Given the description of an element on the screen output the (x, y) to click on. 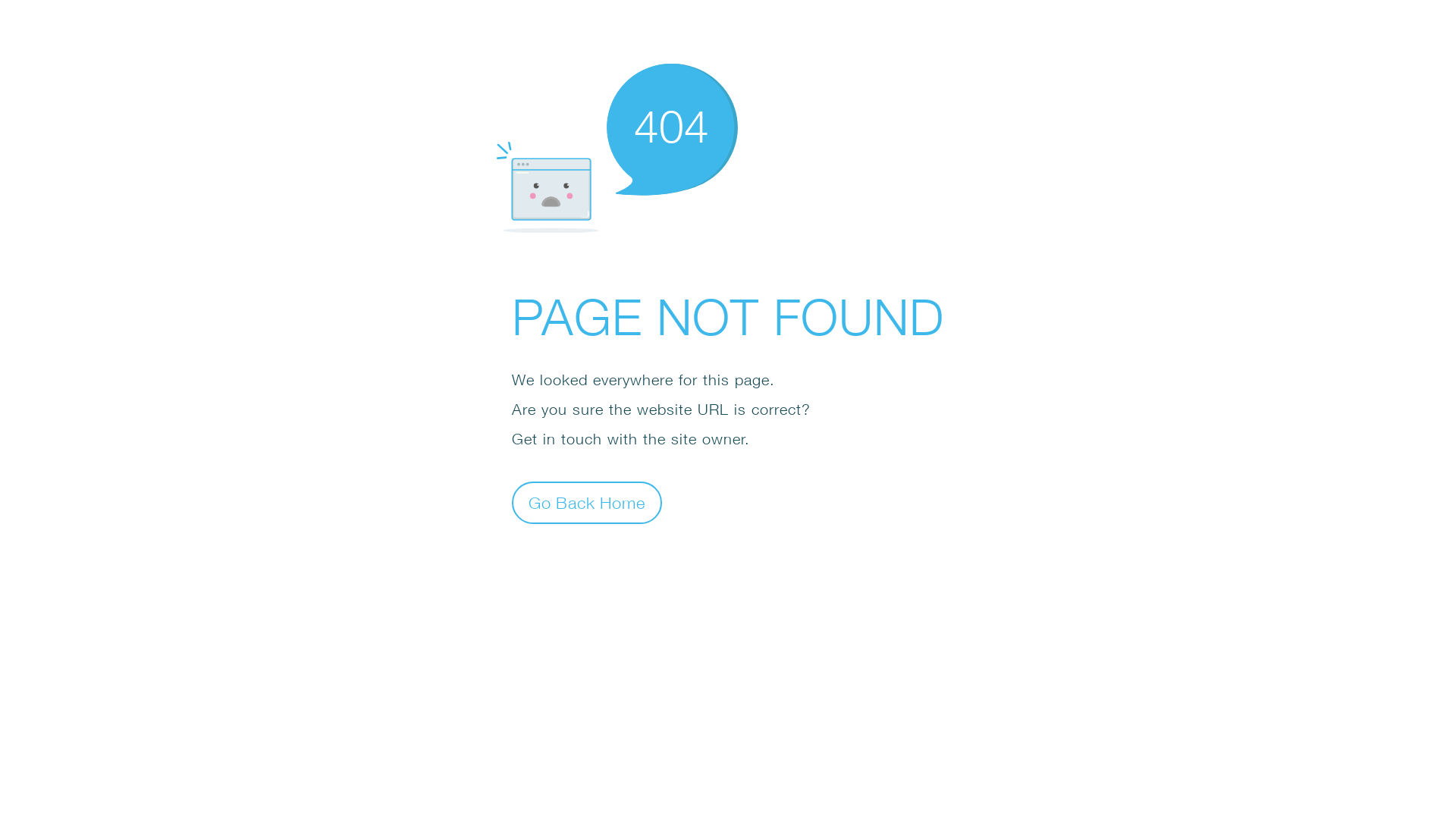
Go Back Home Element type: text (586, 502)
